Given the description of an element on the screen output the (x, y) to click on. 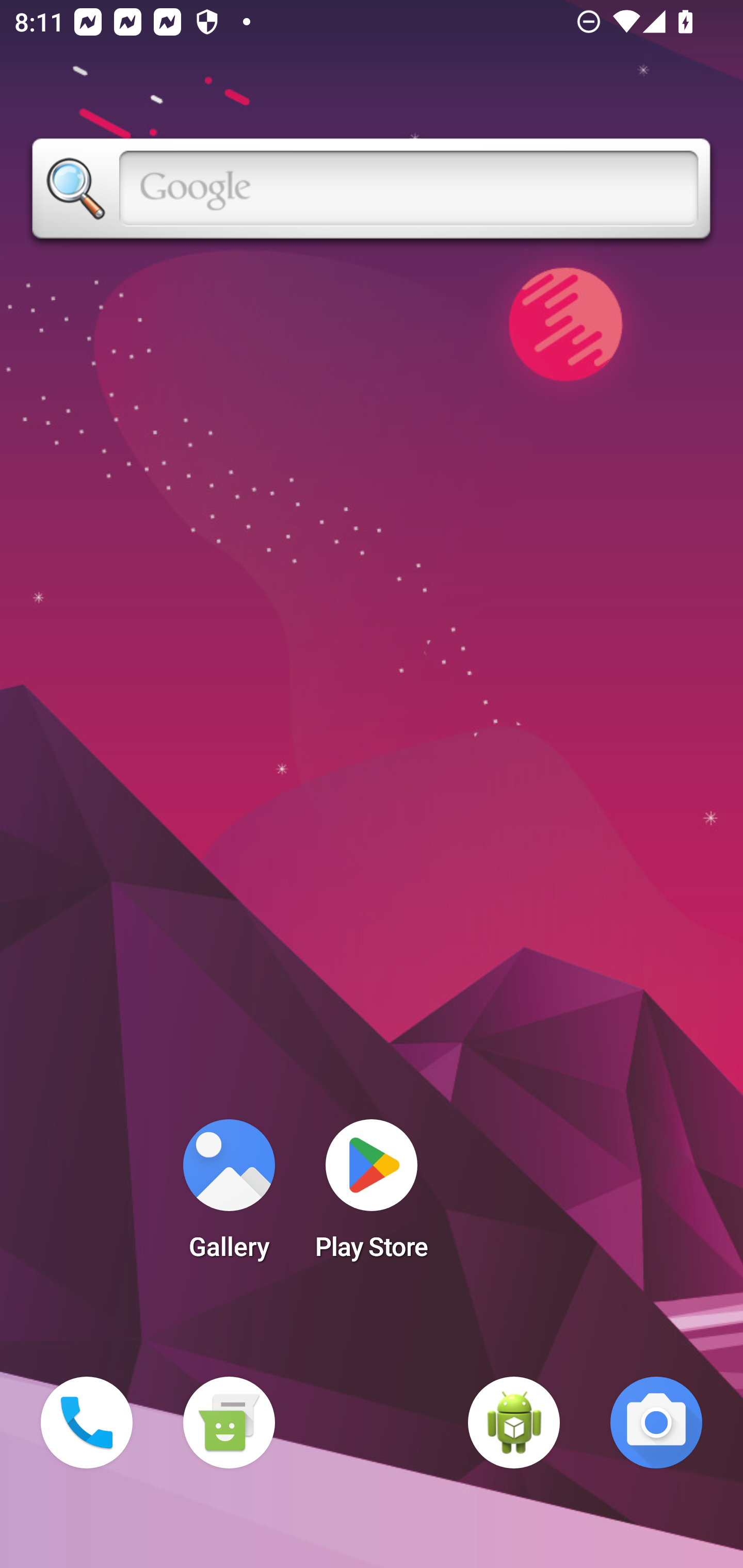
Gallery (228, 1195)
Play Store (371, 1195)
Phone (86, 1422)
Messaging (228, 1422)
WebView Browser Tester (513, 1422)
Camera (656, 1422)
